Given the description of an element on the screen output the (x, y) to click on. 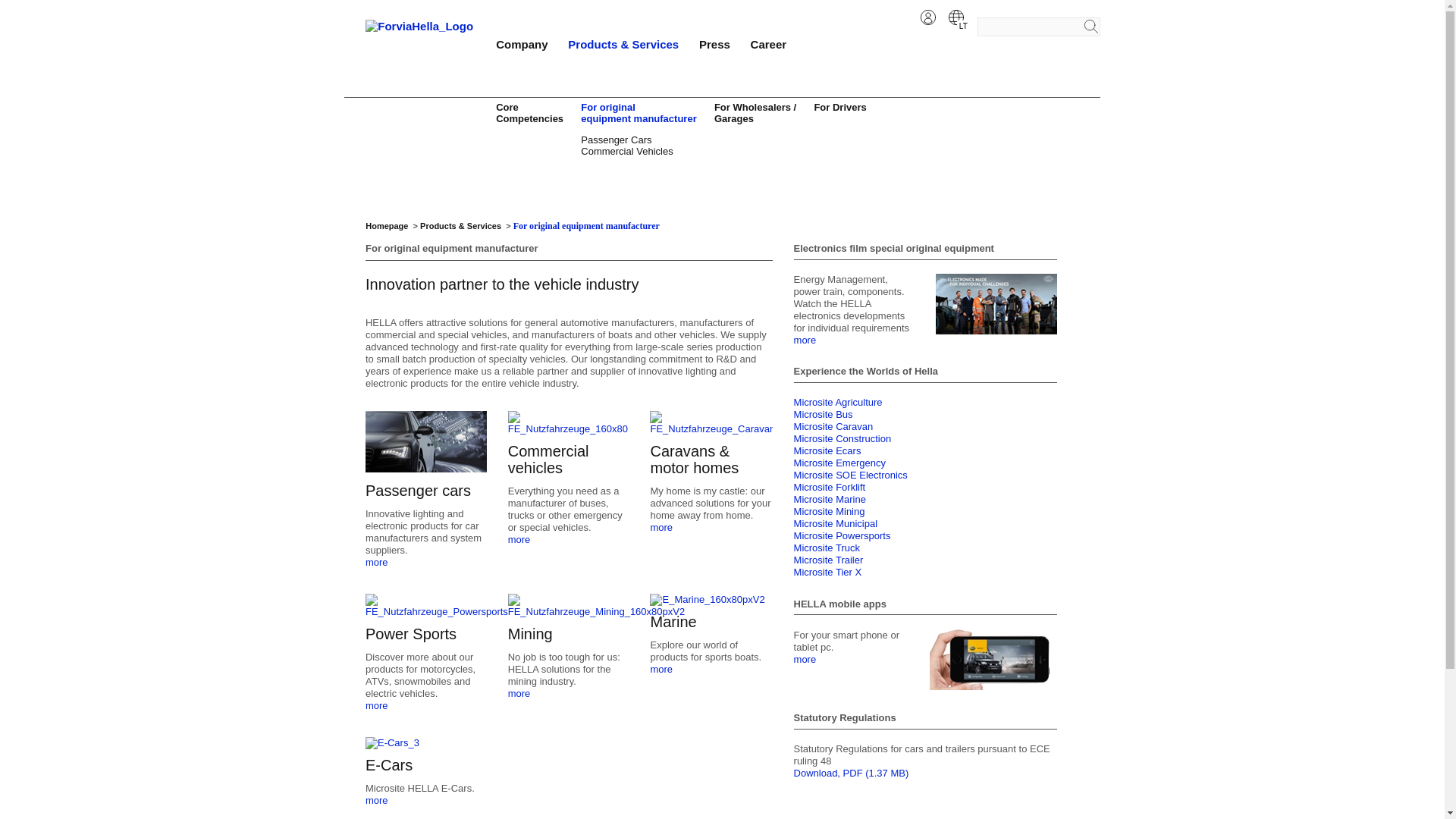
For Drivers (839, 107)
Lithuanian (956, 17)
Company (521, 43)
Career (769, 43)
Search (529, 112)
Press (1038, 26)
Passenger Cars (714, 43)
Login (637, 112)
